Given the description of an element on the screen output the (x, y) to click on. 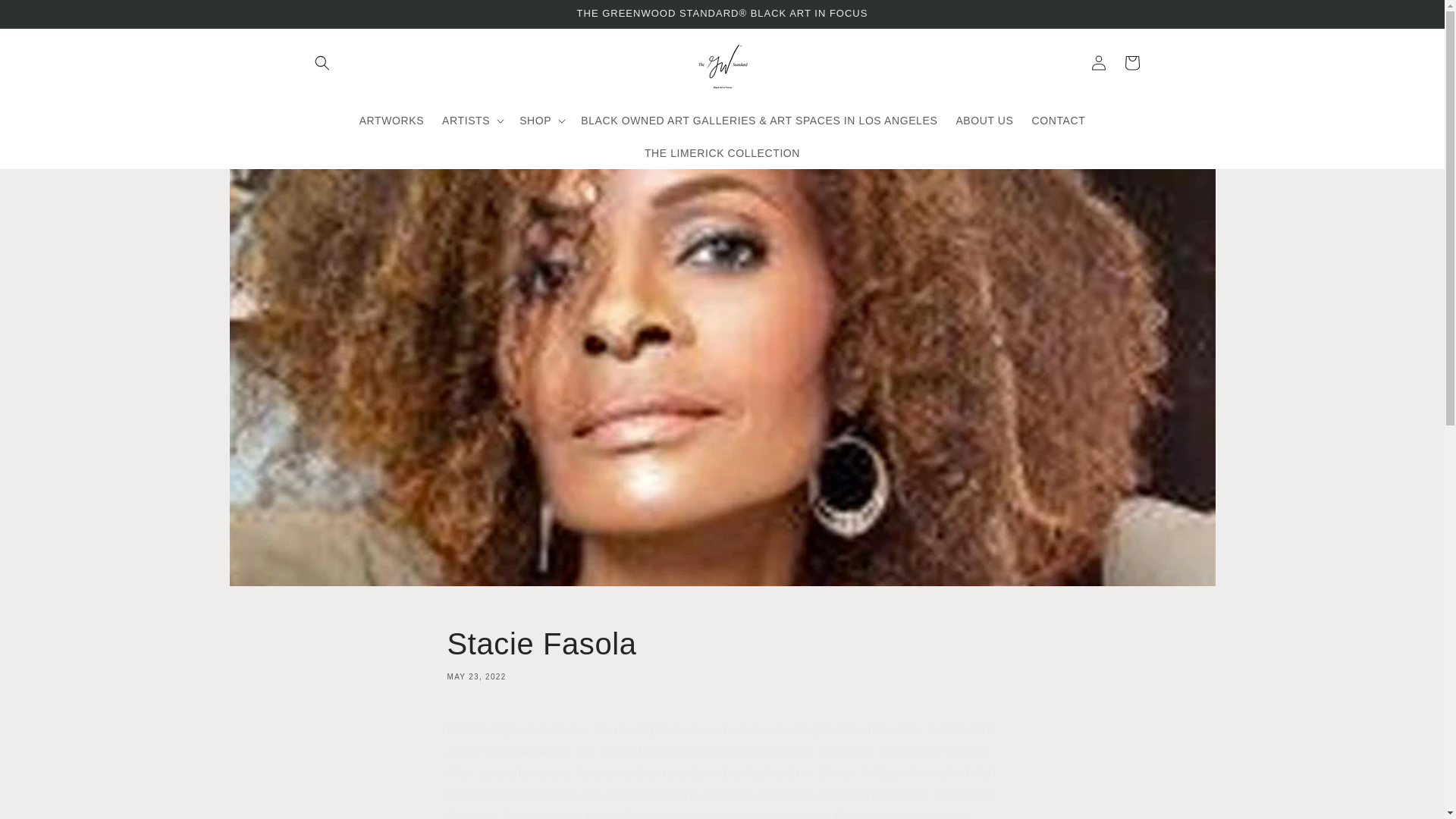
ABOUT US (984, 120)
Log in (1098, 62)
Cart (1131, 62)
CONTACT (721, 652)
THE LIMERICK COLLECTION (1058, 120)
Skip to content (721, 152)
ARTWORKS (45, 17)
